Given the description of an element on the screen output the (x, y) to click on. 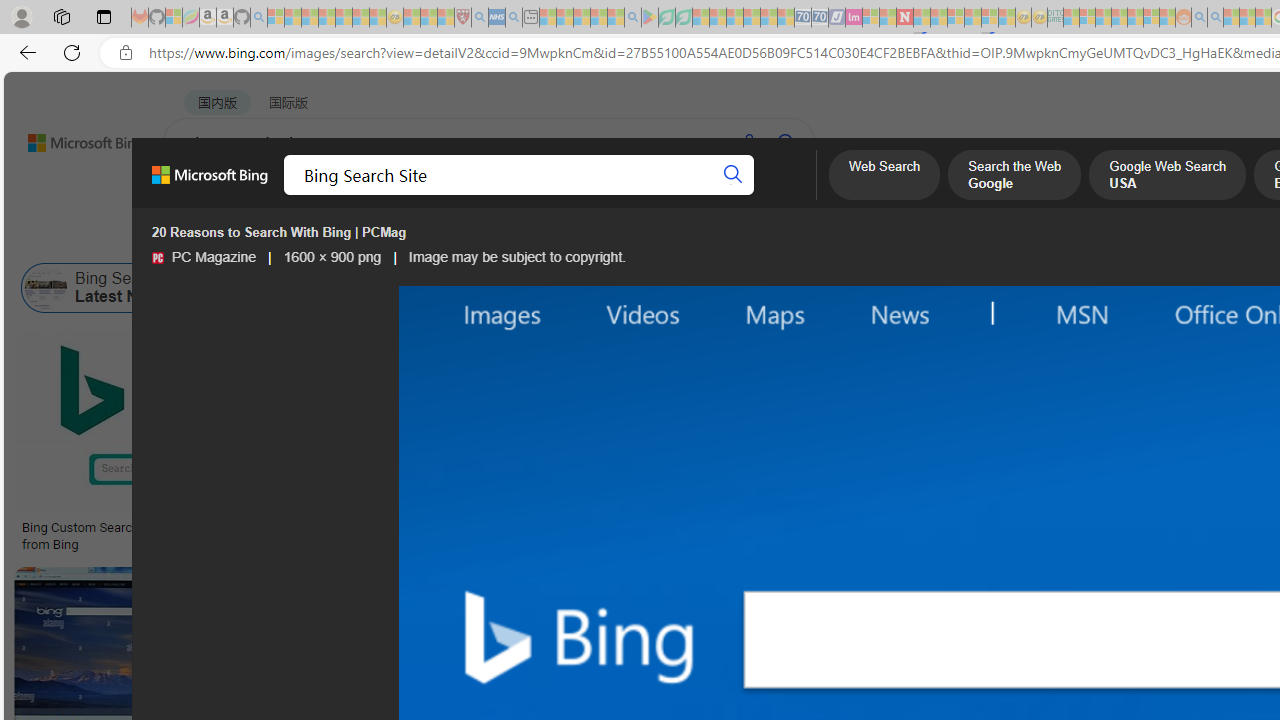
People (521, 237)
Bing Searches Today (438, 287)
Bing Advanced Search Tricks You Should KnowSave (813, 444)
Class: b_pri_nav_svg (423, 196)
Image result for Bing Search Site (1095, 421)
Date (591, 237)
Bing - SEOLend (492, 528)
Bing Search Terms (1025, 287)
